Given the description of an element on the screen output the (x, y) to click on. 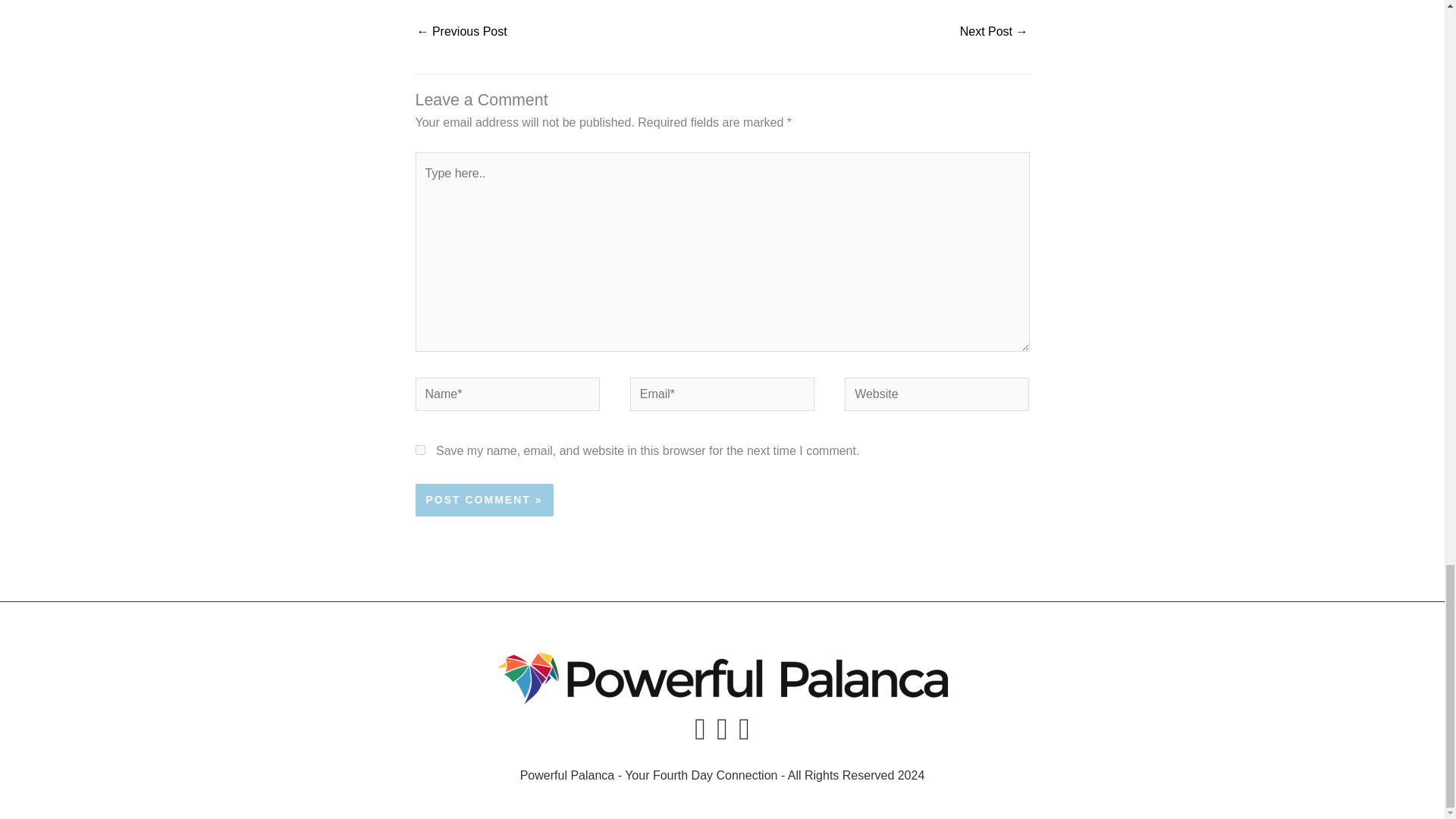
You Are One Of God's Favorite Chicks! (461, 32)
yes (419, 450)
Do You Call it Palanca or Agape? (993, 32)
